Given the description of an element on the screen output the (x, y) to click on. 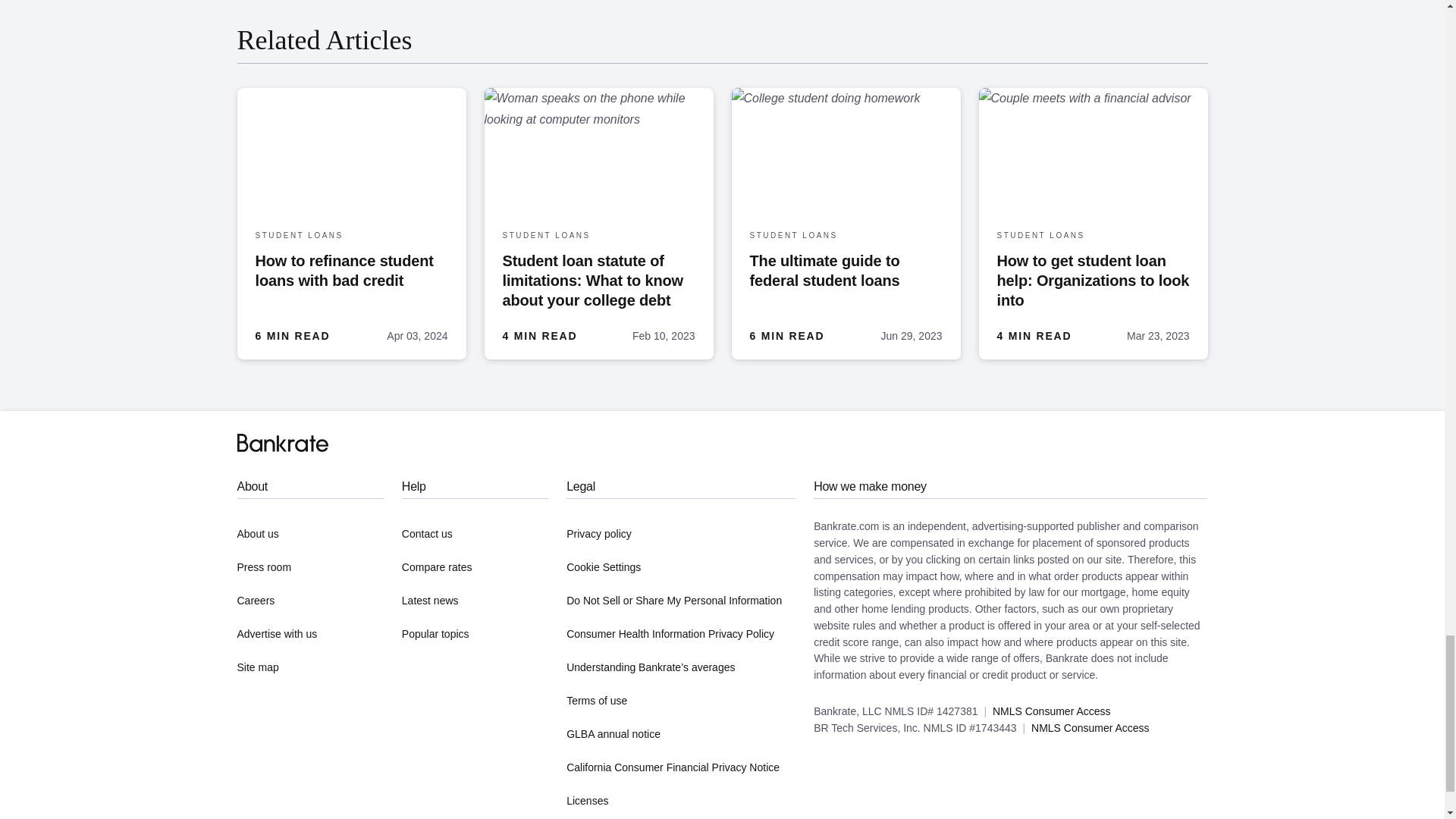
Bankrate (281, 443)
